Given the description of an element on the screen output the (x, y) to click on. 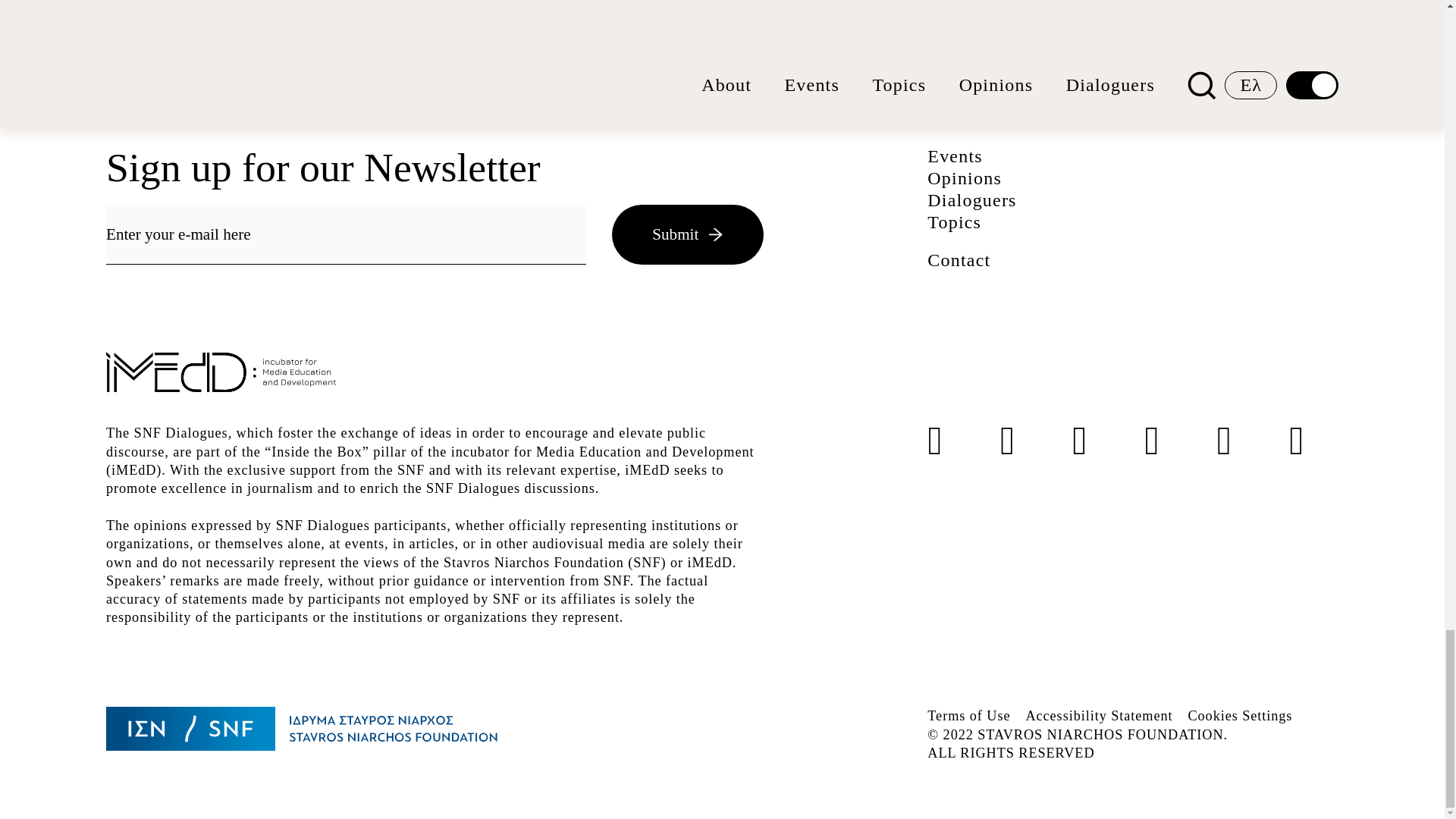
Dialoguers (971, 199)
Events (954, 156)
Topics (954, 221)
Opinions (964, 178)
Submit (686, 234)
